Given the description of an element on the screen output the (x, y) to click on. 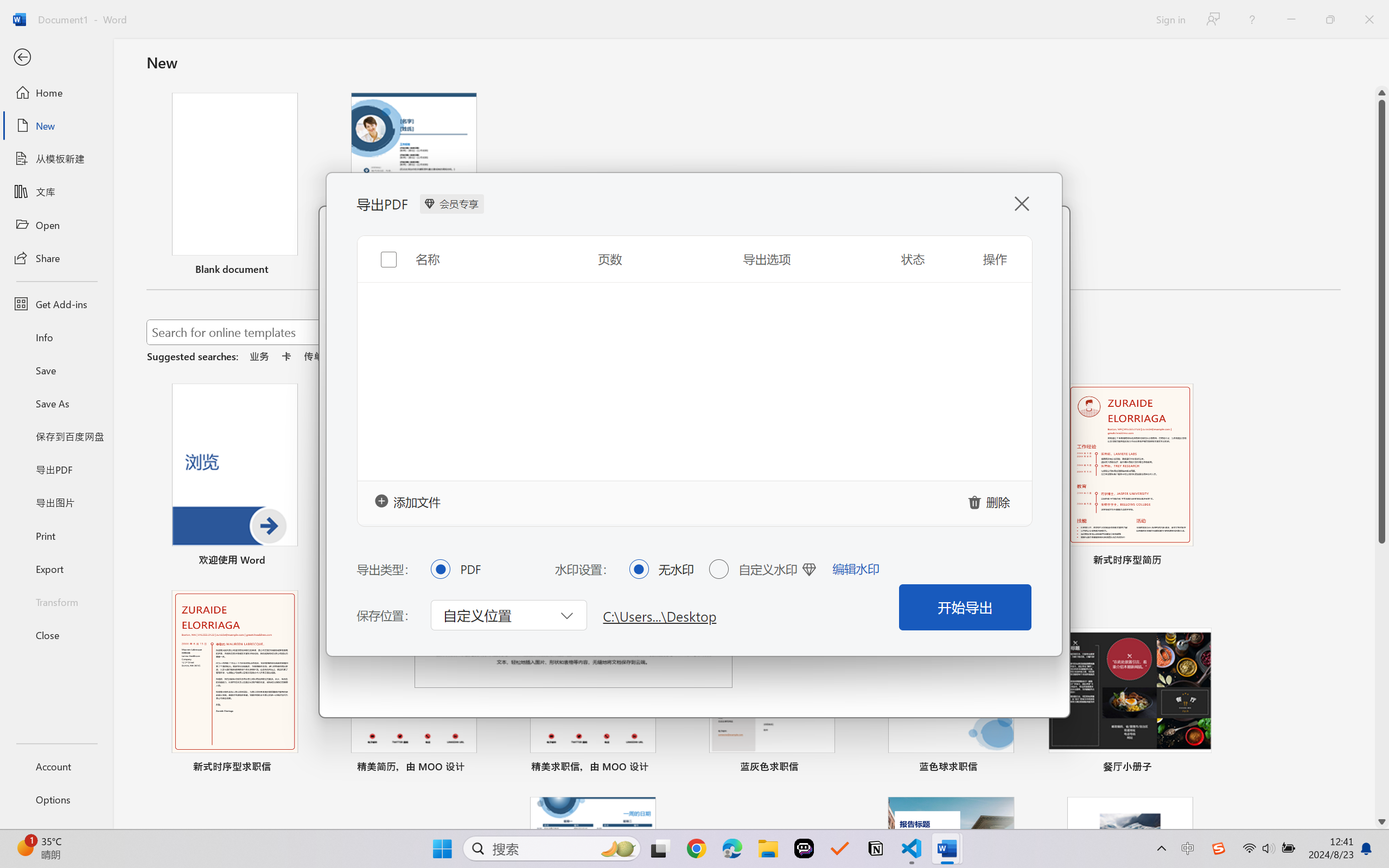
Line down (1382, 821)
Toggle selection for all items (380, 255)
Microsoft Edge (731, 848)
